Given the description of an element on the screen output the (x, y) to click on. 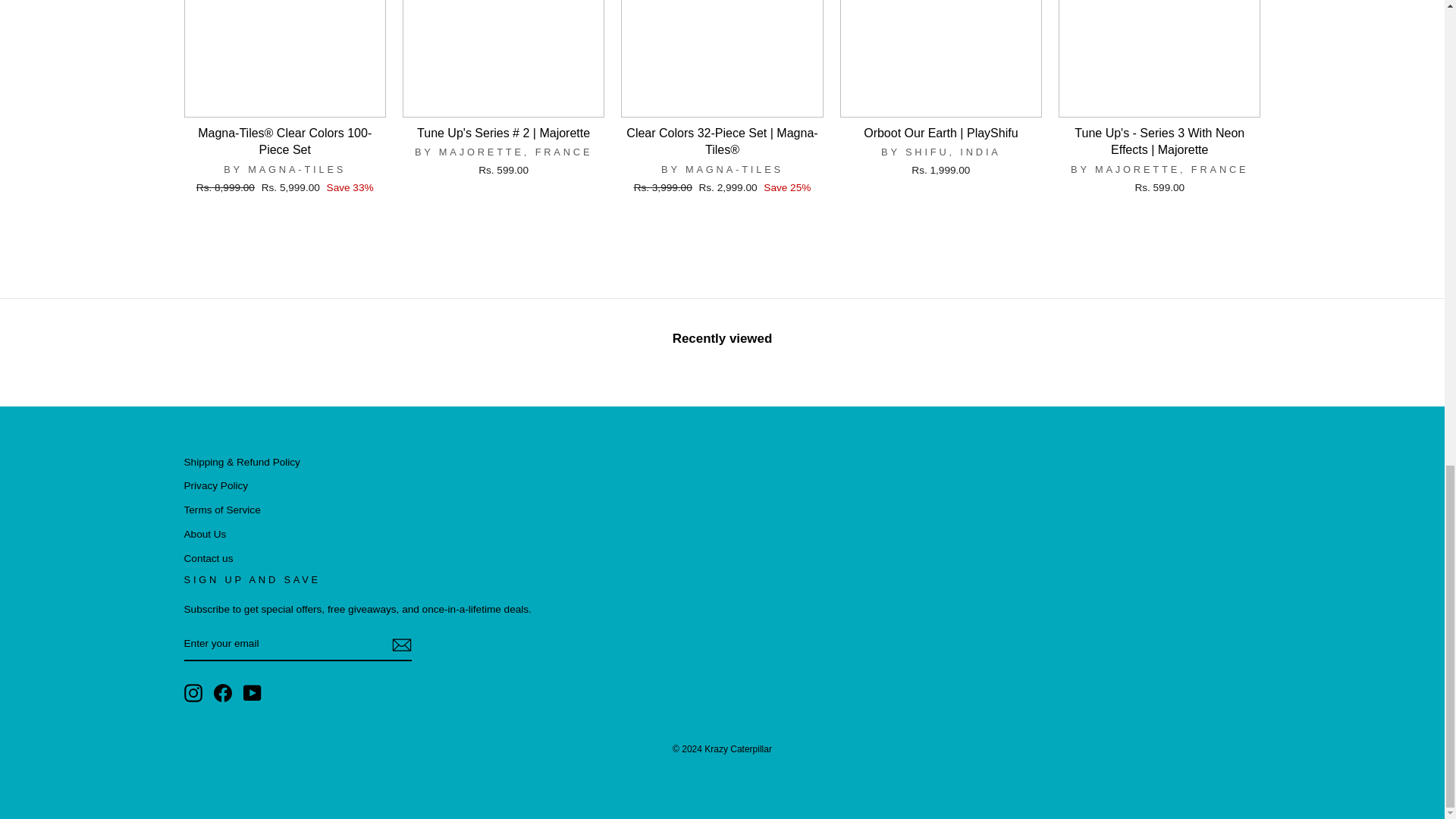
Krazy Caterpillar  on YouTube (251, 692)
Krazy Caterpillar  on Instagram (192, 692)
Krazy Caterpillar  on Facebook (222, 692)
